Given the description of an element on the screen output the (x, y) to click on. 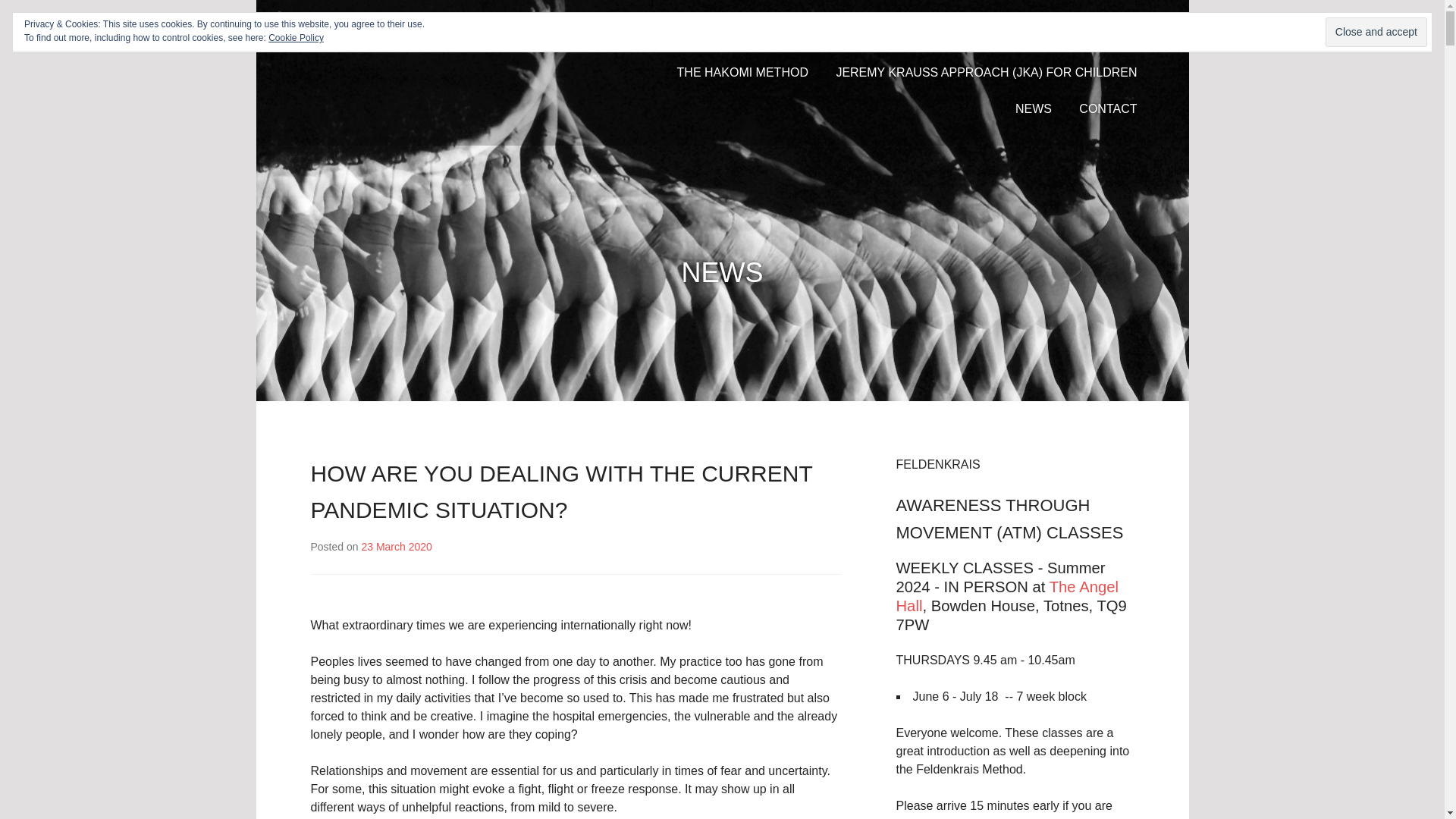
23 March 2020 (395, 546)
THE FELDENKRAIS METHOD (904, 36)
CONTACT (1107, 108)
Close and accept (1375, 31)
MASSAGE THERAPY (1076, 36)
NEWS (1032, 108)
Judit Meixner (392, 35)
THE HAKOMI METHOD (742, 72)
HOW ARE YOU DEALING WITH THE CURRENT PANDEMIC SITUATION? (561, 491)
ABOUT (772, 36)
